Given the description of an element on the screen output the (x, y) to click on. 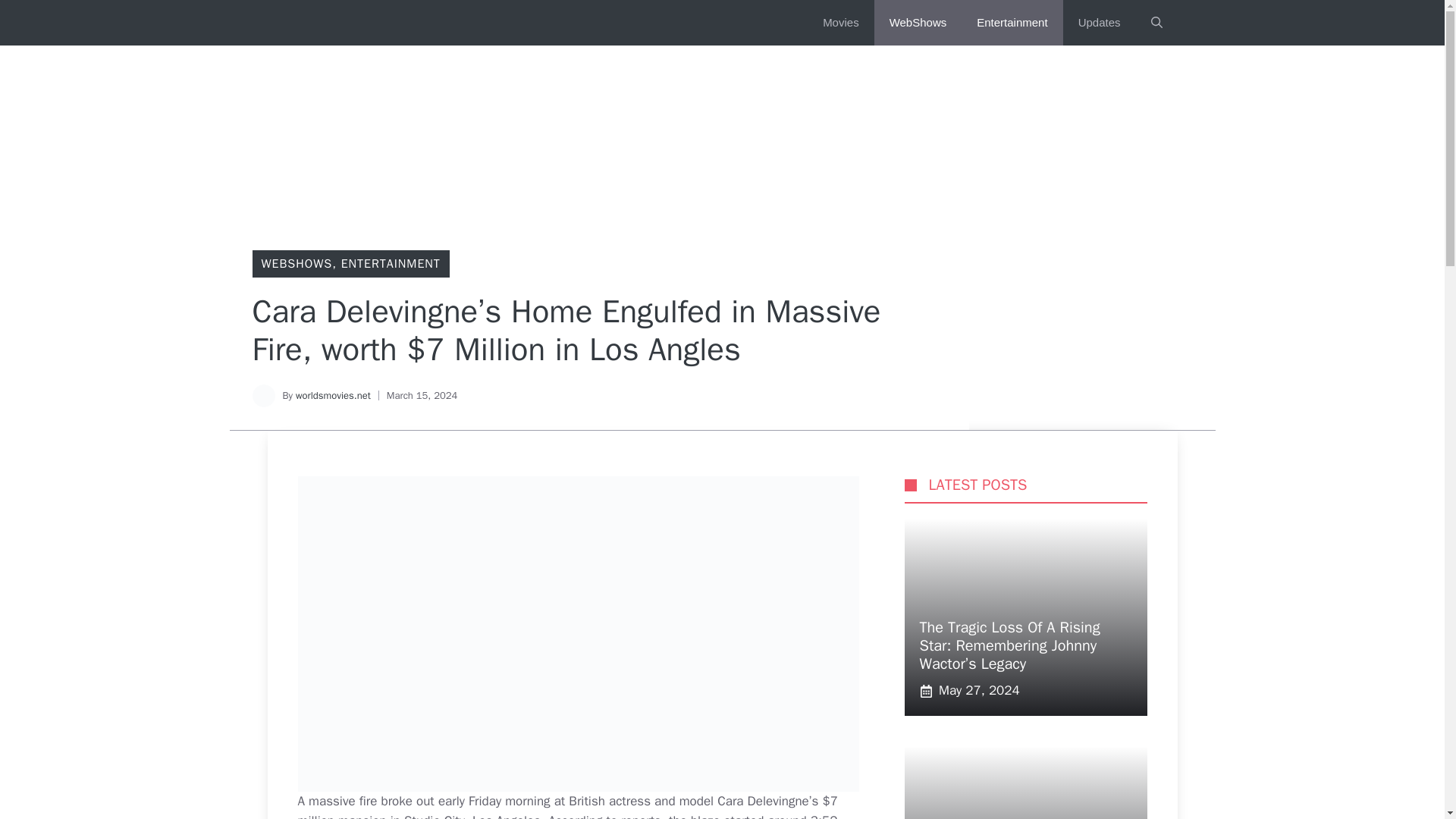
Entertainment (1011, 22)
worldsmovies.net (333, 395)
ENTERTAINMENT (390, 263)
WEBSHOWS (295, 263)
Movies (841, 22)
WebShows (918, 22)
Updates (1098, 22)
